Given the description of an element on the screen output the (x, y) to click on. 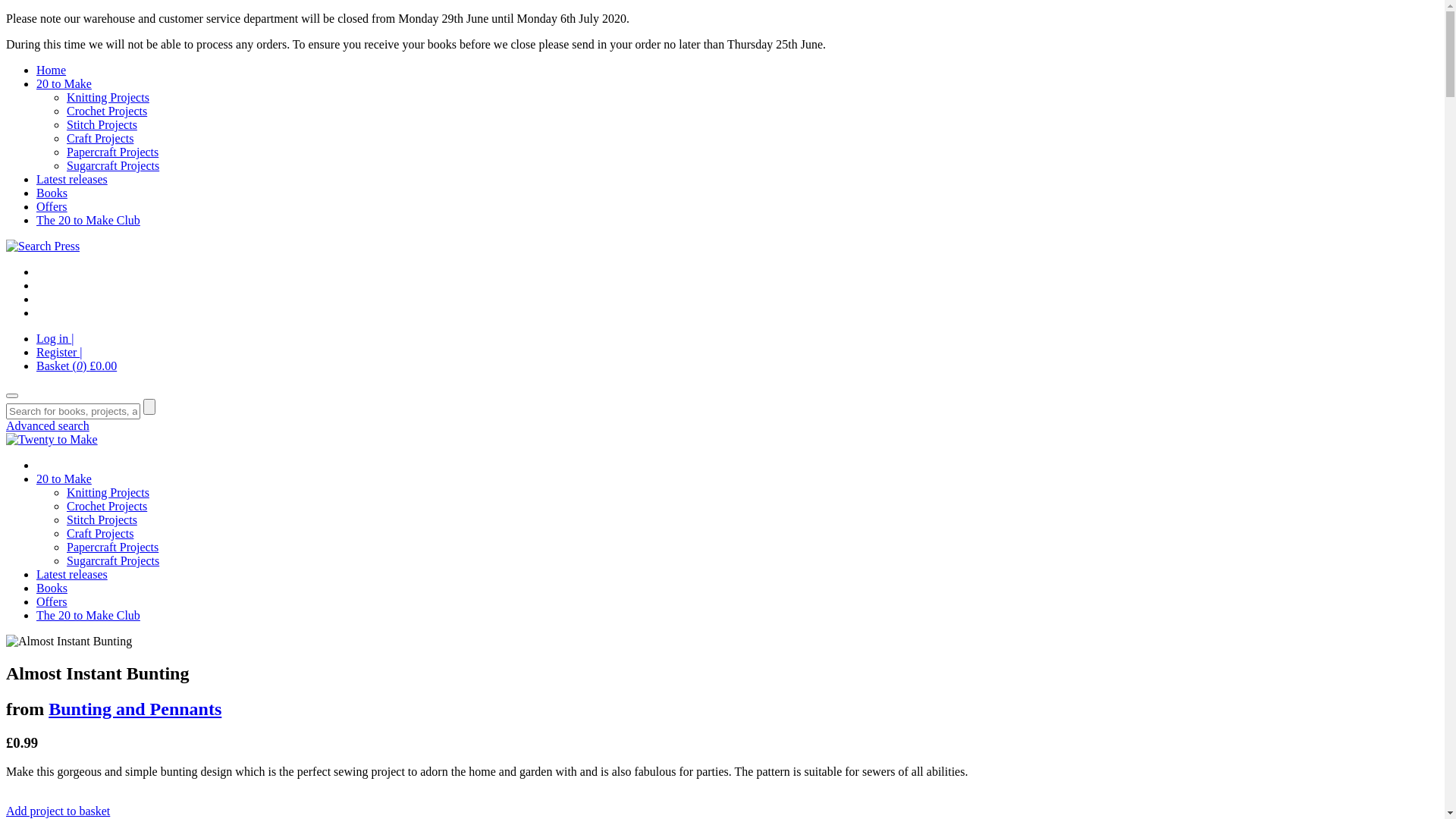
Sugarcraft Projects Element type: text (112, 560)
Papercraft Projects Element type: text (112, 151)
Bunting and Pennants Element type: text (134, 708)
Craft Projects Element type: text (99, 533)
Latest releases Element type: text (71, 178)
20 to Make Element type: text (63, 83)
Offers Element type: text (51, 601)
Crochet Projects Element type: text (106, 505)
Crochet Projects Element type: text (106, 110)
Advanced search Element type: text (47, 425)
Sugarcraft Projects Element type: text (112, 165)
The 20 to Make Club Element type: text (88, 219)
Books Element type: text (51, 192)
Craft Projects Element type: text (99, 137)
Home Element type: text (50, 69)
Stitch Projects Element type: text (101, 519)
Offers Element type: text (51, 206)
Register | Element type: text (59, 351)
Books Element type: text (51, 587)
Stitch Projects Element type: text (101, 124)
The 20 to Make Club Element type: text (88, 614)
Log in | Element type: text (54, 338)
Latest releases Element type: text (71, 573)
Knitting Projects Element type: text (107, 492)
Add project to basket Element type: text (57, 810)
Papercraft Projects Element type: text (112, 546)
20 to Make Element type: text (63, 478)
Knitting Projects Element type: text (107, 97)
